Given the description of an element on the screen output the (x, y) to click on. 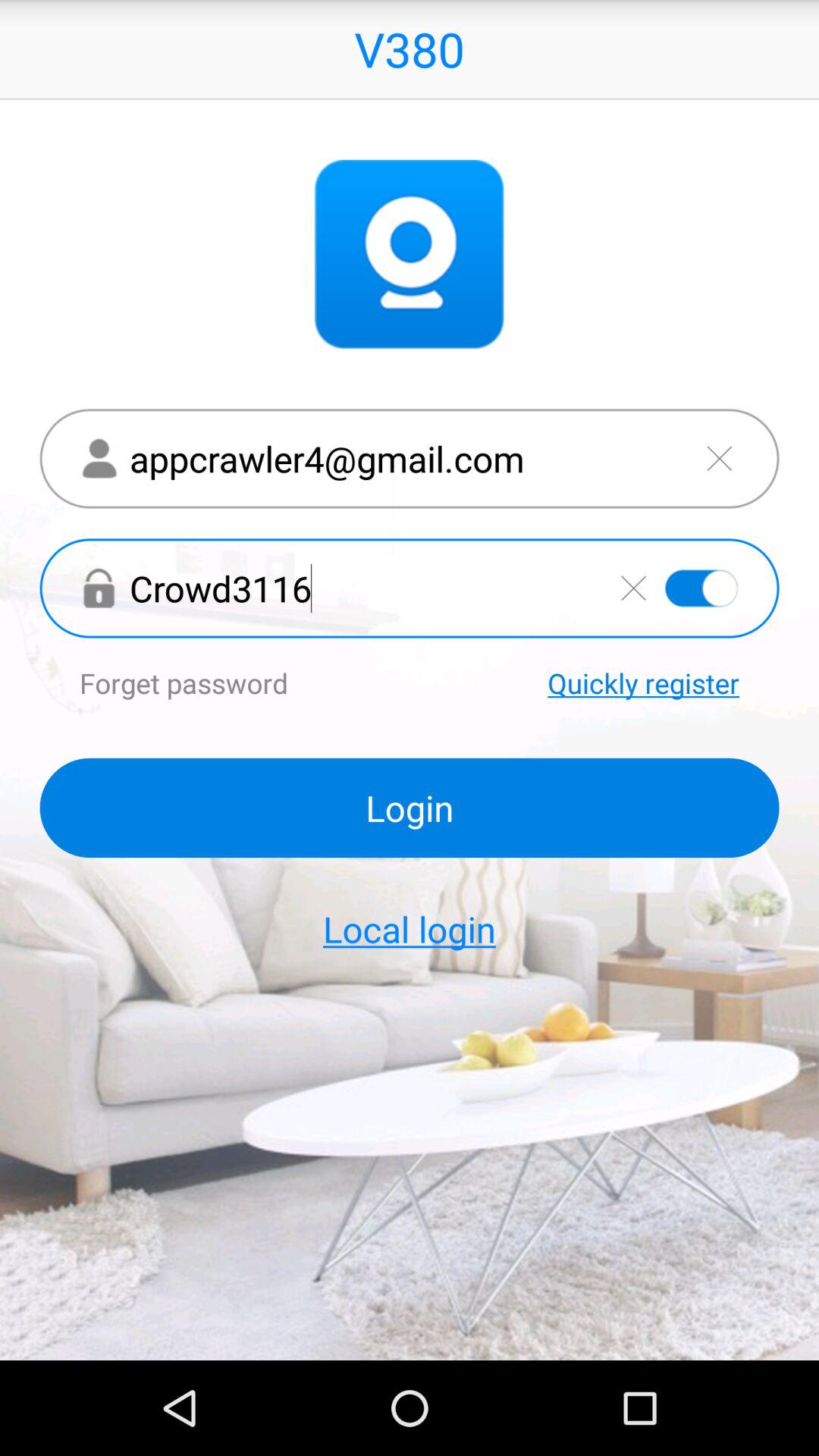
delete entered password (633, 587)
